Given the description of an element on the screen output the (x, y) to click on. 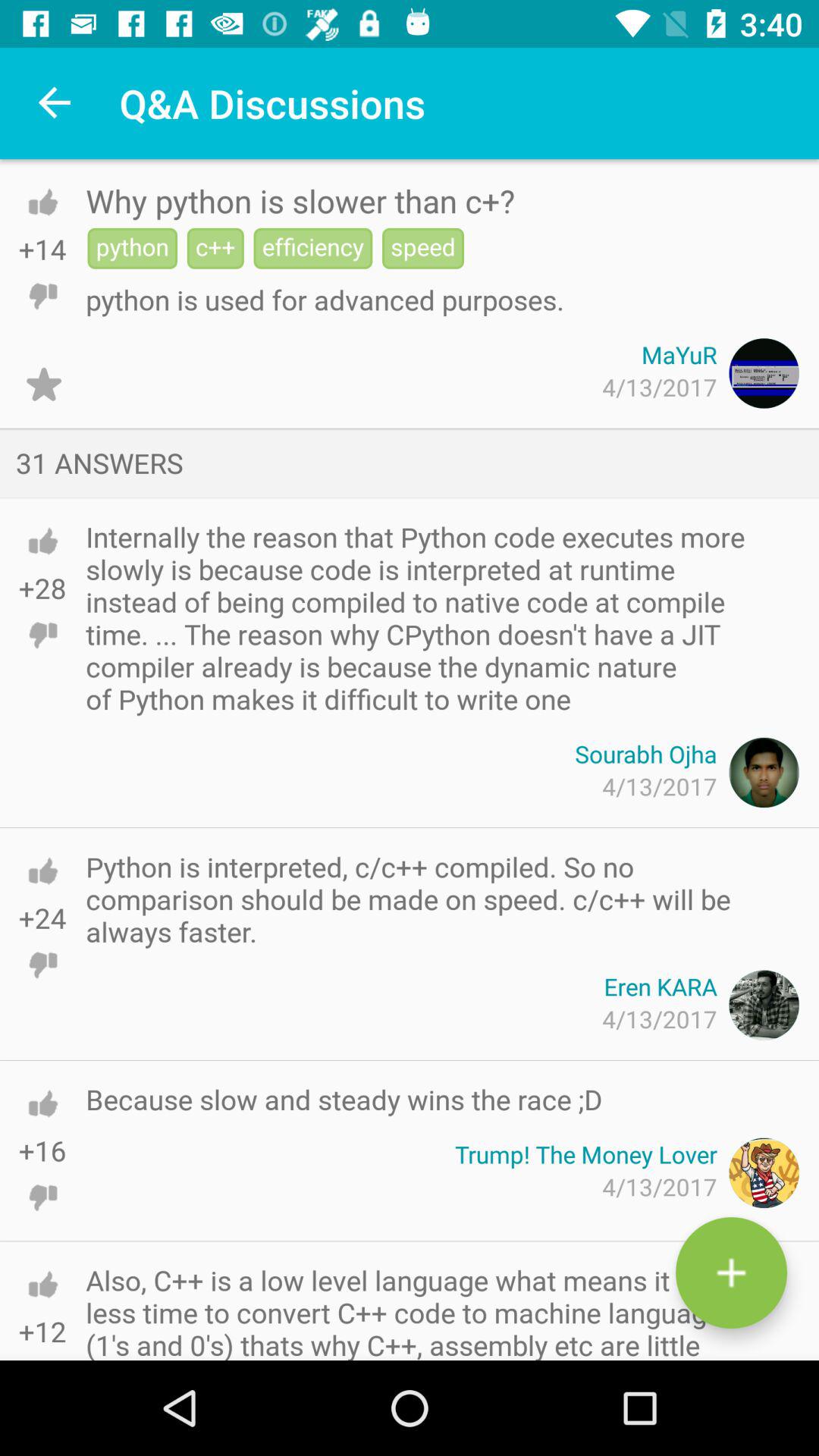
turn off the item to the left of the q&a discussions item (55, 103)
